Given the description of an element on the screen output the (x, y) to click on. 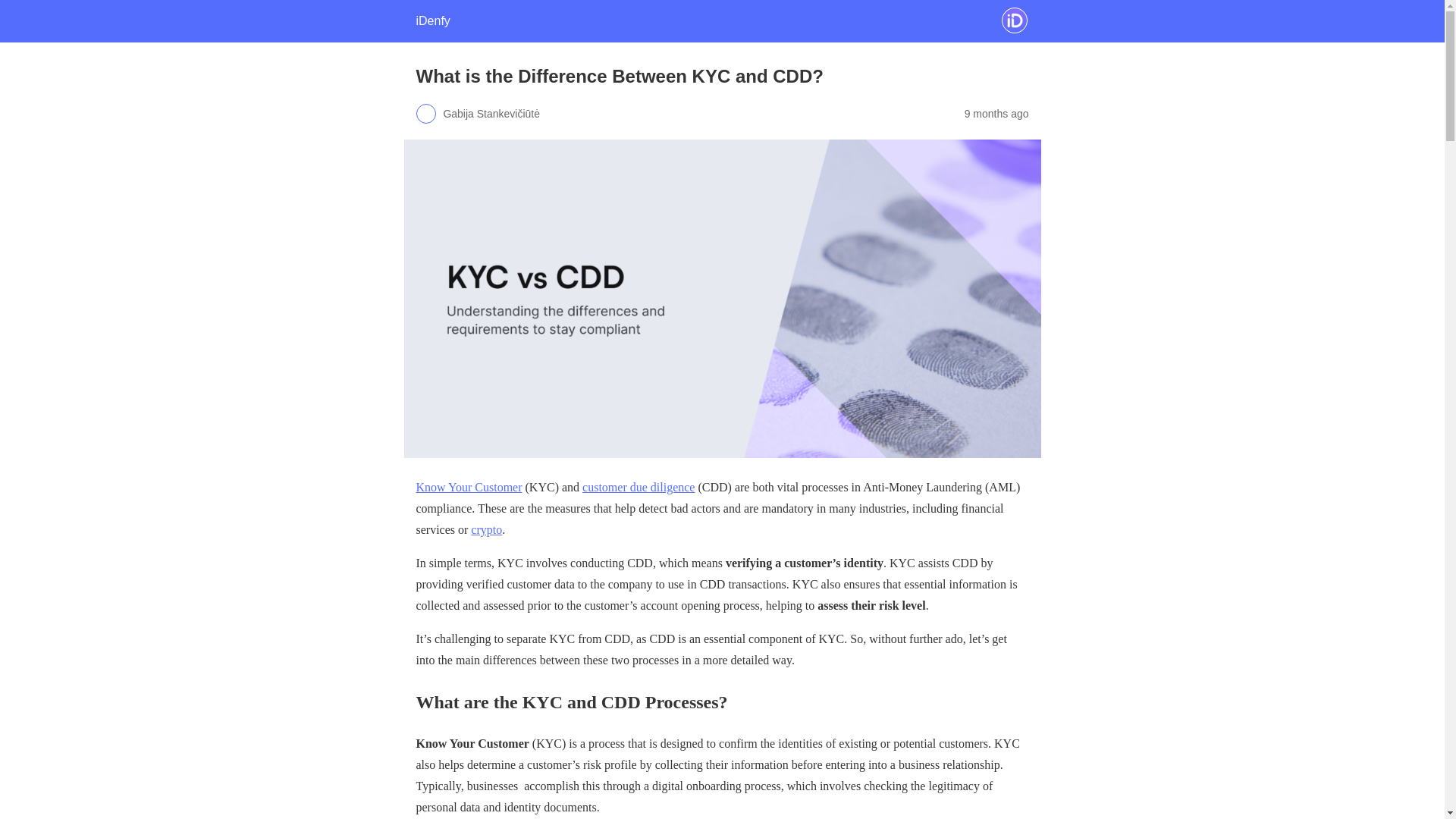
Know Your Customer (467, 486)
crypto (486, 529)
iDenfy (431, 20)
customer due diligence (638, 486)
